Given the description of an element on the screen output the (x, y) to click on. 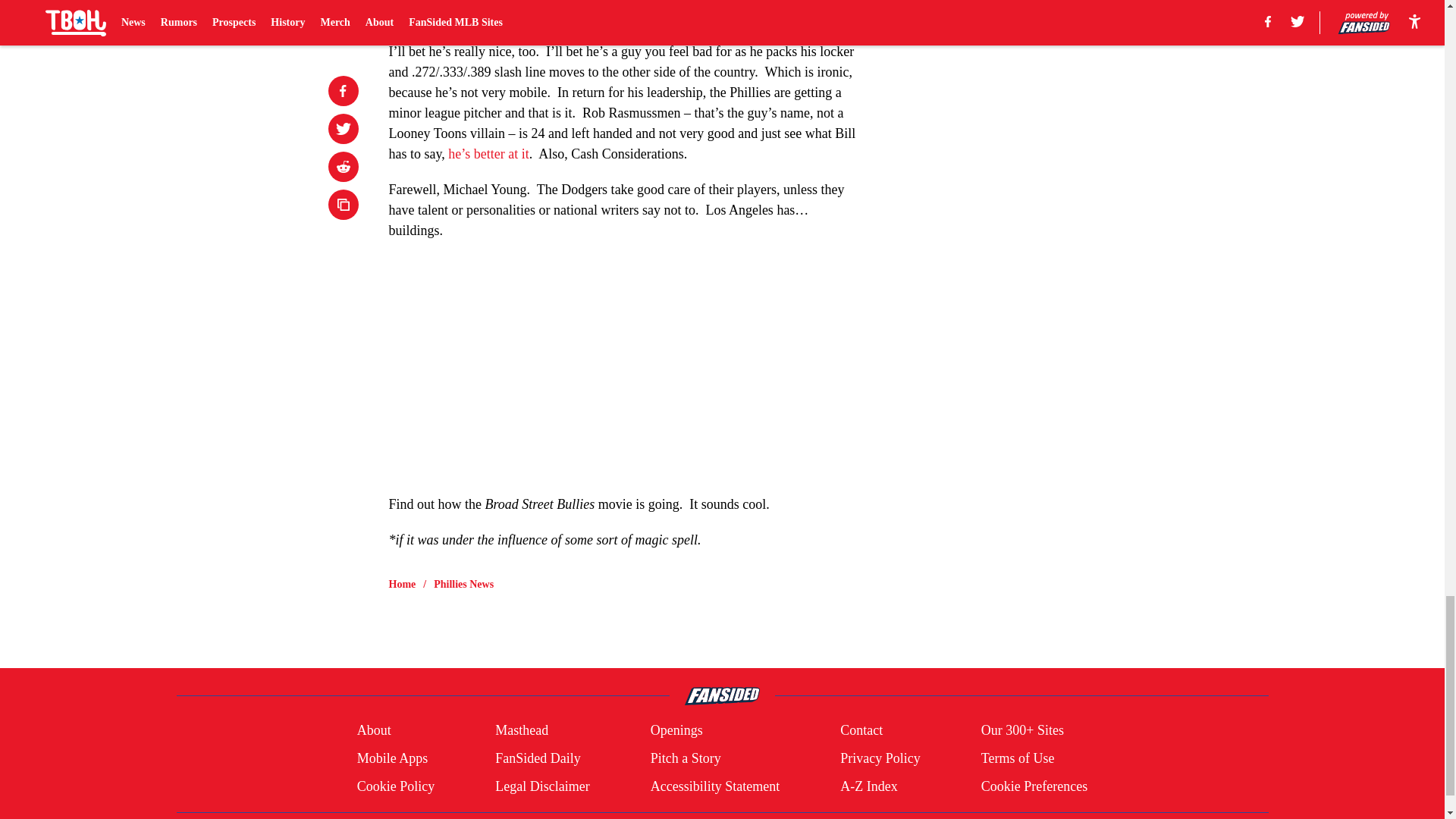
Legal Disclaimer (542, 786)
A-Z Index (868, 786)
Home (401, 584)
Pitch a Story (685, 758)
Masthead (521, 730)
Openings (676, 730)
Phillies News (463, 584)
FanSided Daily (537, 758)
Terms of Use (1017, 758)
About (373, 730)
Accessibility Statement (714, 786)
Mobile Apps (392, 758)
Cookie Policy (395, 786)
Contact (861, 730)
Privacy Policy (880, 758)
